Given the description of an element on the screen output the (x, y) to click on. 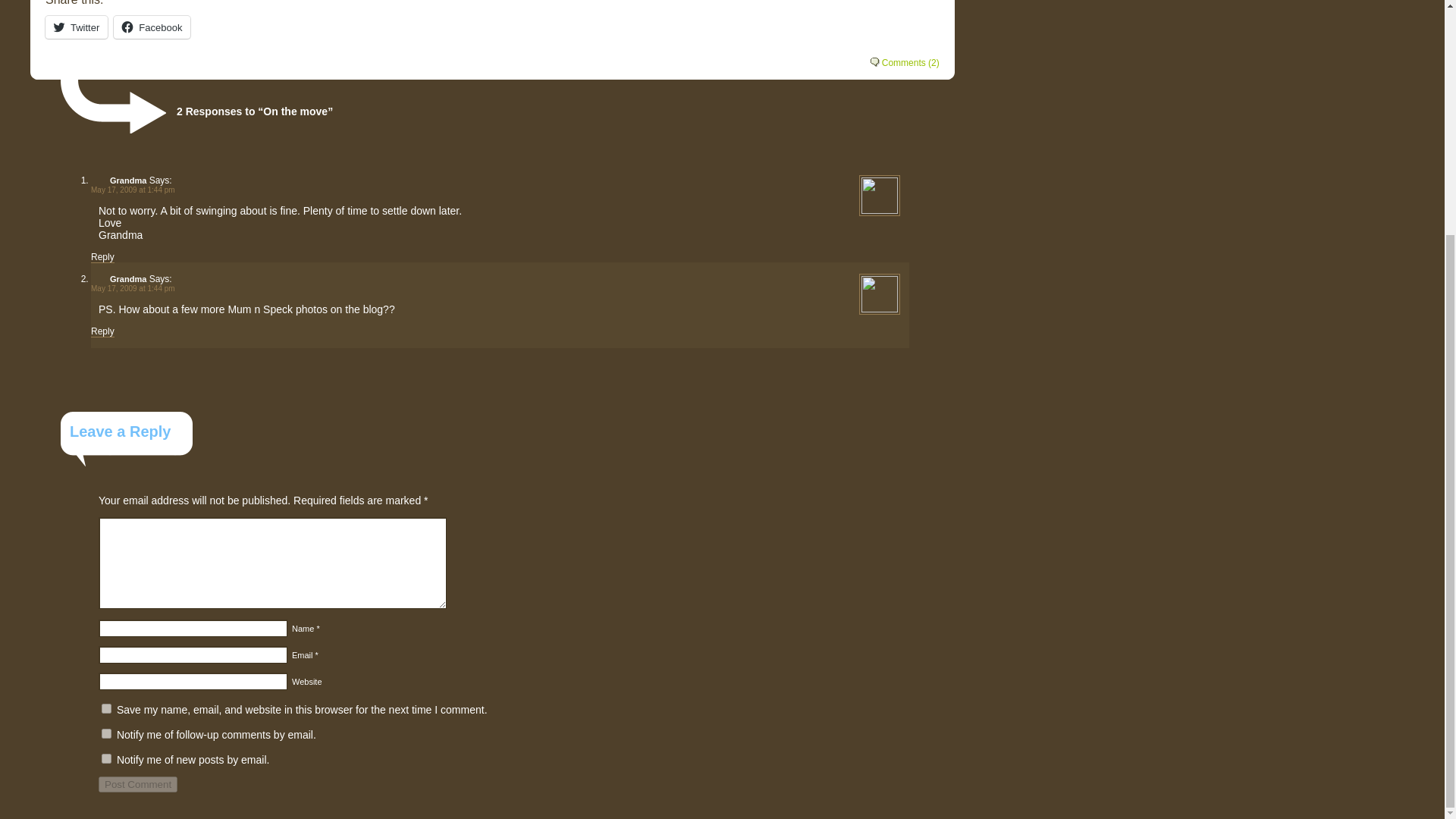
Twitter (76, 26)
Reply (102, 256)
Facebook (151, 26)
subscribe (106, 733)
Post Comment (138, 784)
Click to share on Facebook (151, 26)
Click to share on Twitter (76, 26)
May 17, 2009 at 1:44 pm (132, 288)
subscribe (106, 758)
yes (106, 708)
